Given the description of an element on the screen output the (x, y) to click on. 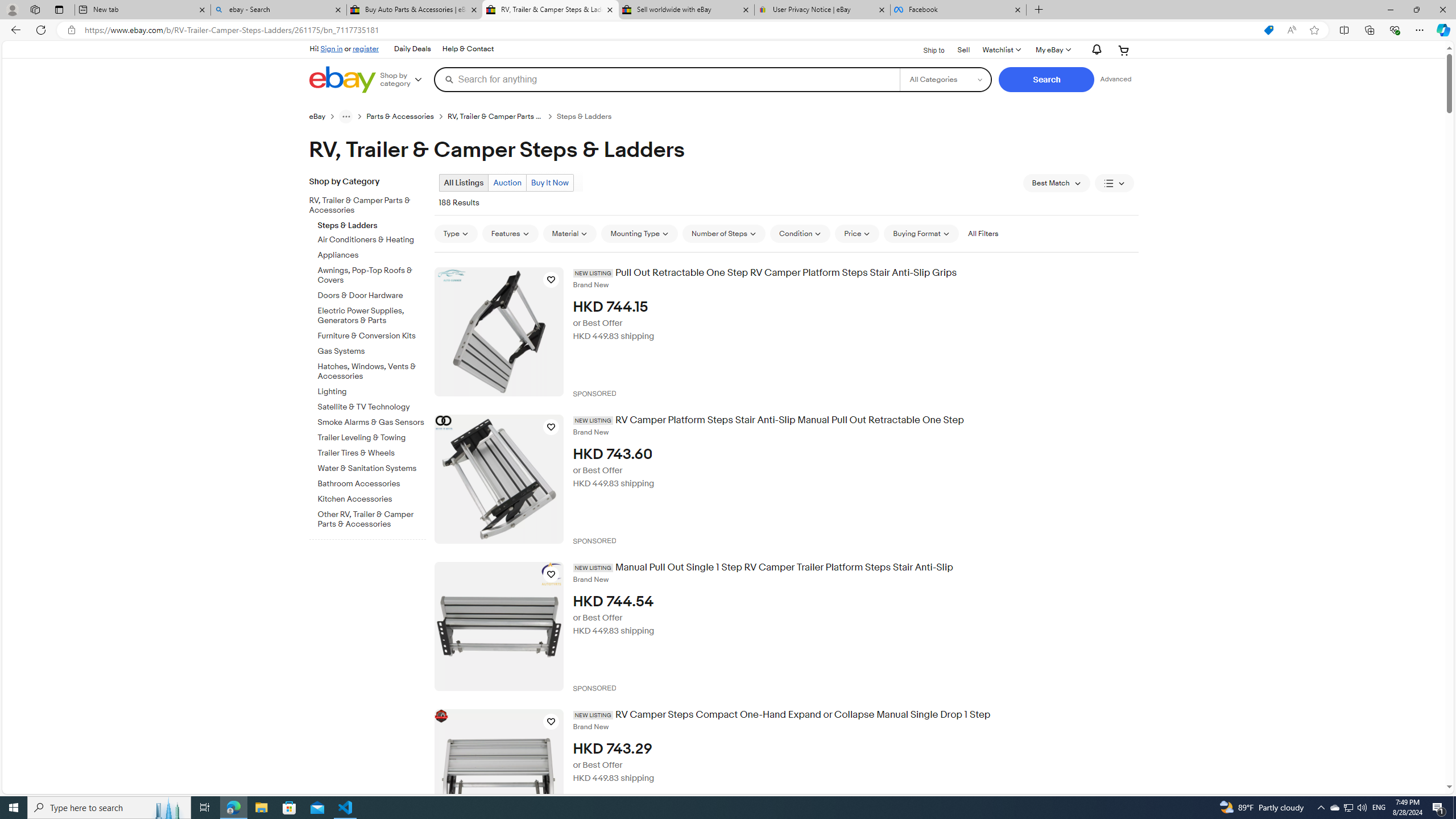
Split screen (1344, 29)
Air Conditioners & Heating (371, 237)
Kitchen Accessories (371, 499)
RV, Trailer & Camper Parts & Accessories (371, 203)
View: List View (1114, 182)
RV, Trailer & Camper Steps & Ladders for sale | eBay (550, 9)
Tab actions menu (58, 9)
Doors & Door Hardware (371, 295)
eBay Home (341, 79)
Buy It Now (549, 182)
Refresh (40, 29)
